Given the description of an element on the screen output the (x, y) to click on. 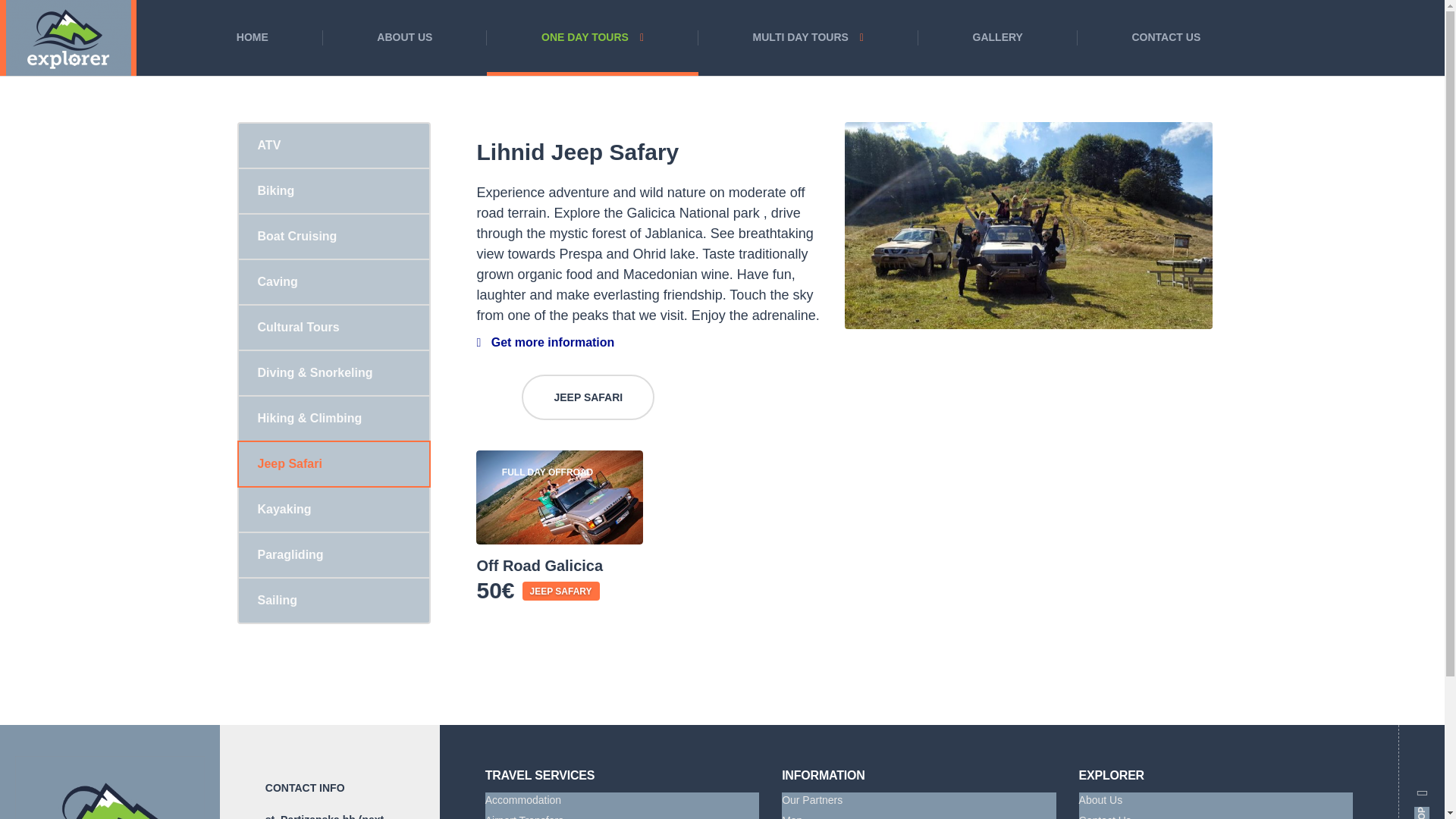
Cultural Tours (333, 326)
ATV (333, 145)
Caving (333, 280)
Boat Cruising (333, 235)
FULL DAY OFFROAD (559, 497)
Accommodation (621, 802)
CONTACT US (1166, 38)
MULTI DAY TOURS (808, 38)
Kayaking (333, 508)
Jeep Safari (332, 463)
